Given the description of an element on the screen output the (x, y) to click on. 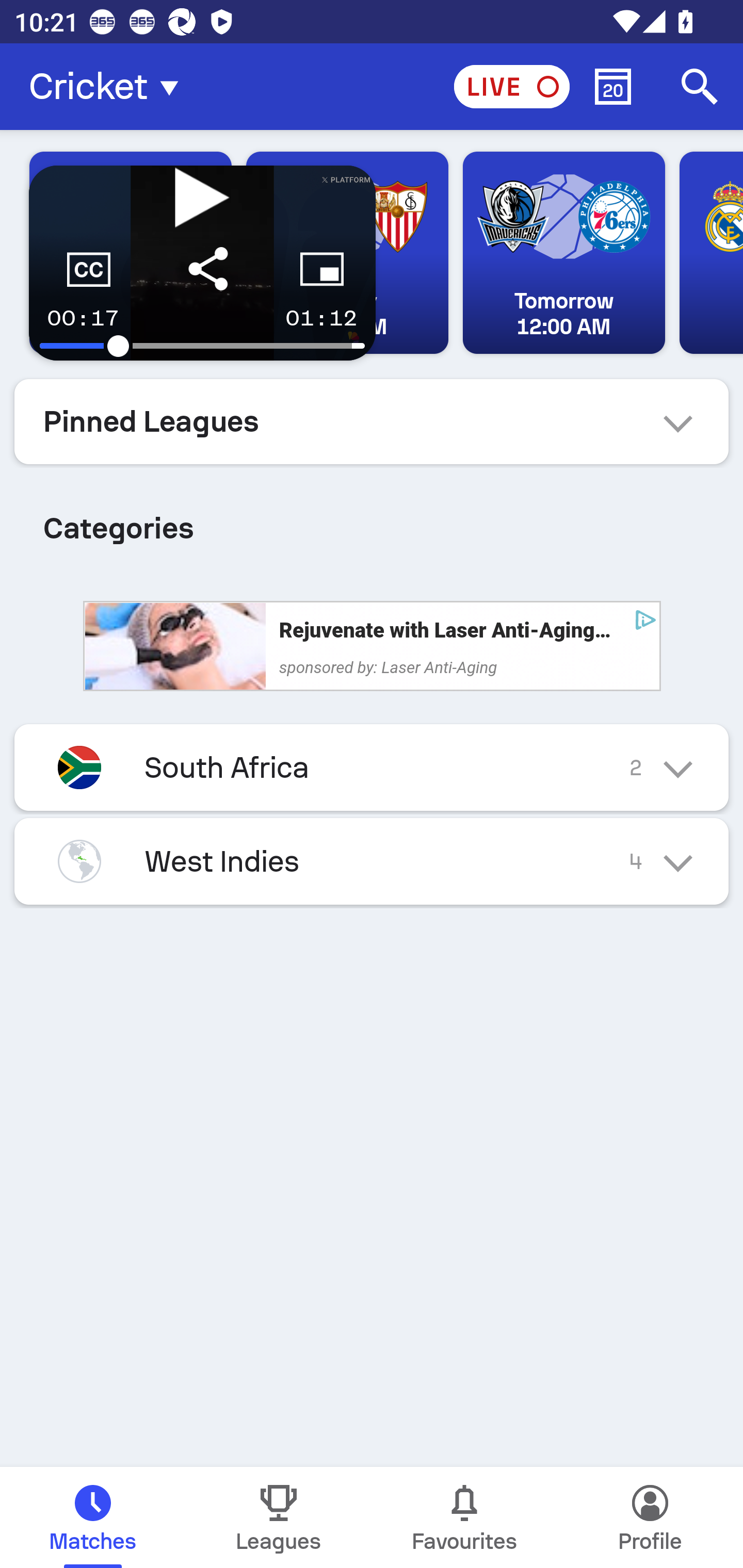
Cricket (109, 86)
Calendar (612, 86)
Search (699, 86)
Tomorrow
12:00 AM (563, 253)
Pinned Leagues (371, 421)
Categories (371, 520)
achoice (644, 618)
South Africa 2 (371, 767)
West Indies 4 (371, 861)
Leagues (278, 1517)
Favourites (464, 1517)
Profile (650, 1517)
